Given the description of an element on the screen output the (x, y) to click on. 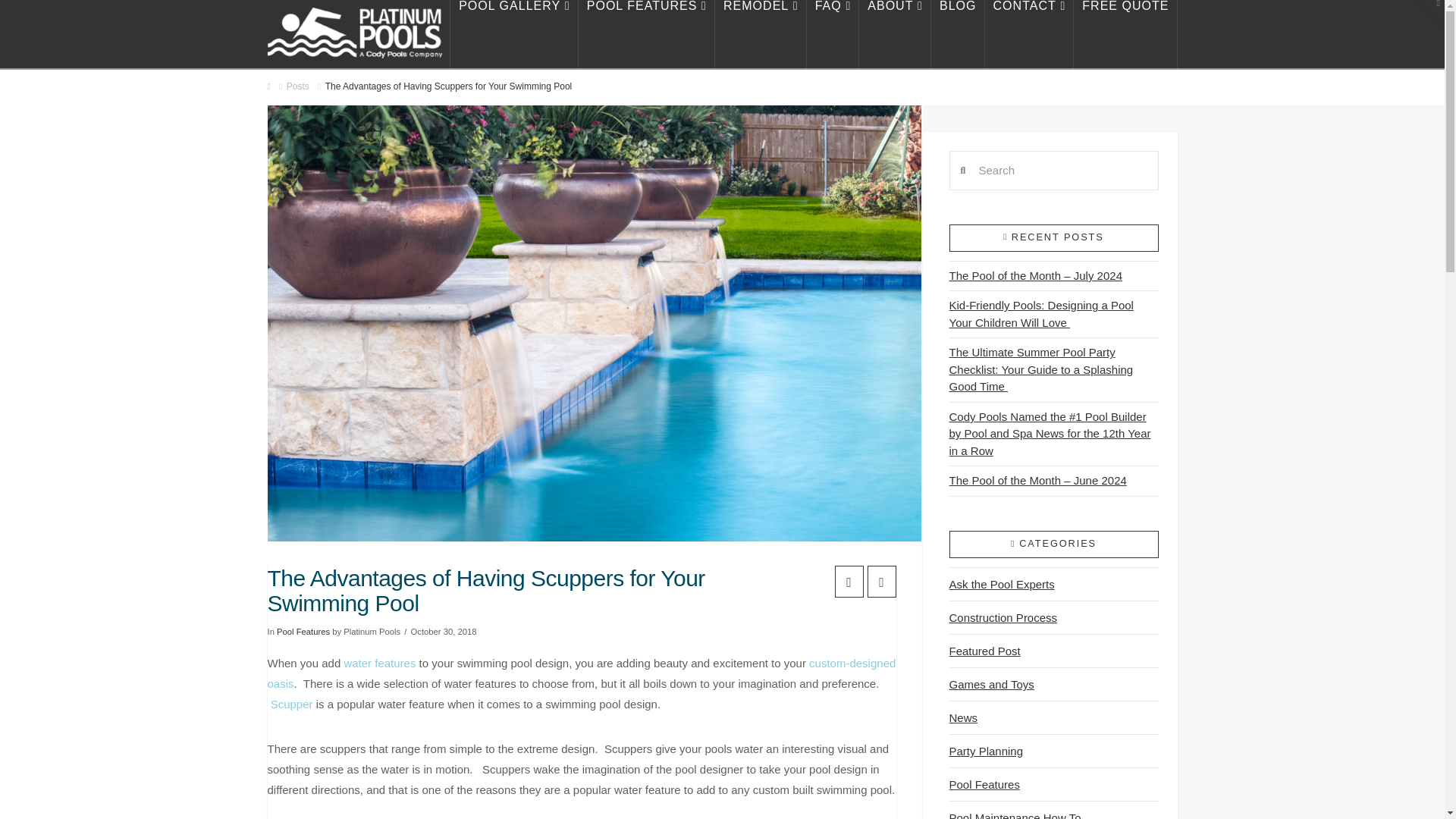
POOL GALLERY (513, 33)
You Are Here (448, 86)
POOL FEATURES (646, 33)
ABOUT (895, 33)
FREE QUOTE (1125, 33)
REMODEL (760, 33)
CONTACT (1029, 33)
